Given the description of an element on the screen output the (x, y) to click on. 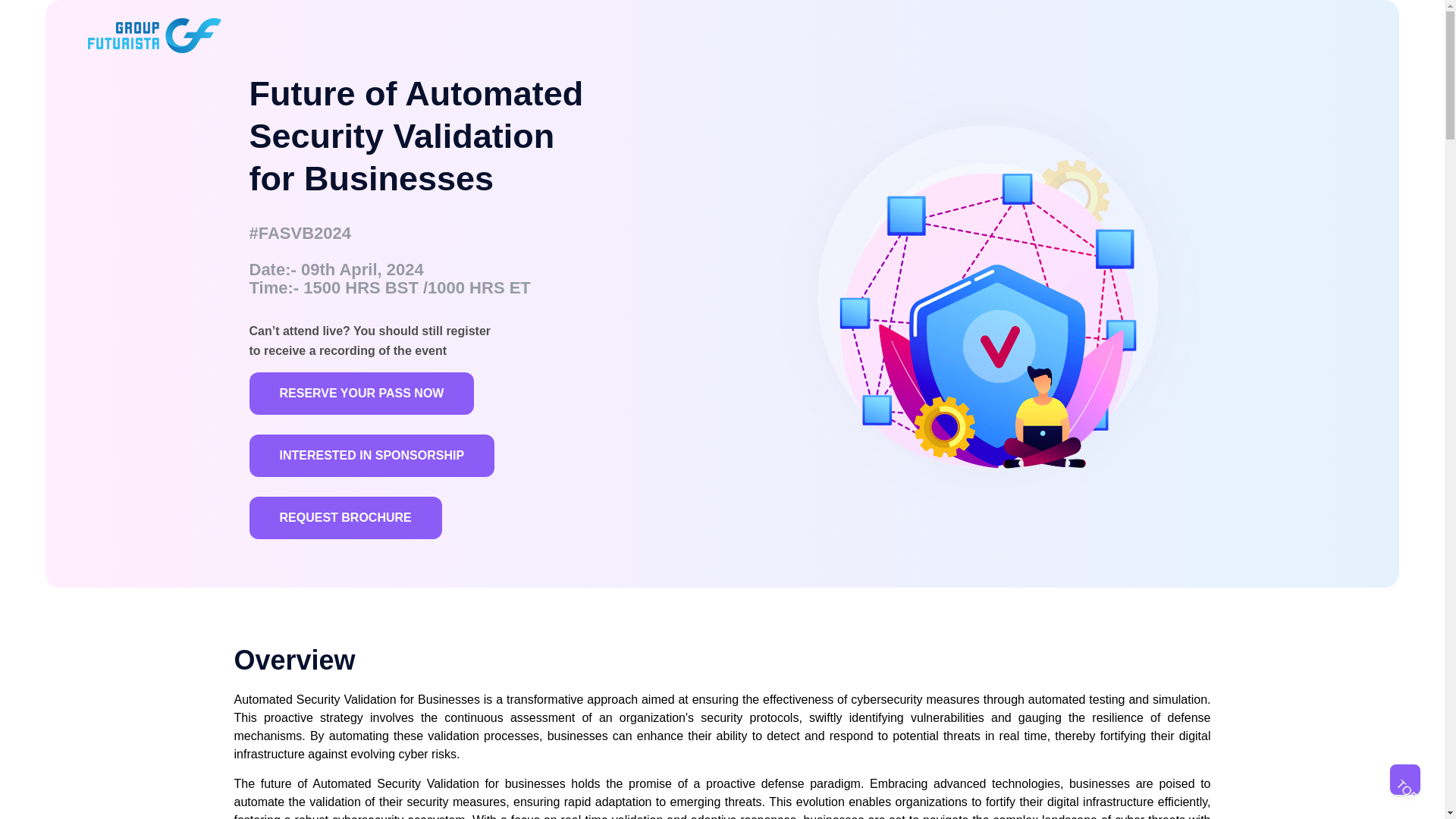
Go to top (1405, 779)
INTERESTED IN SPONSORSHIP (371, 455)
RESERVE YOUR PASS NOW (361, 393)
TOP (1405, 779)
REQUEST BROCHURE (344, 517)
